Given the description of an element on the screen output the (x, y) to click on. 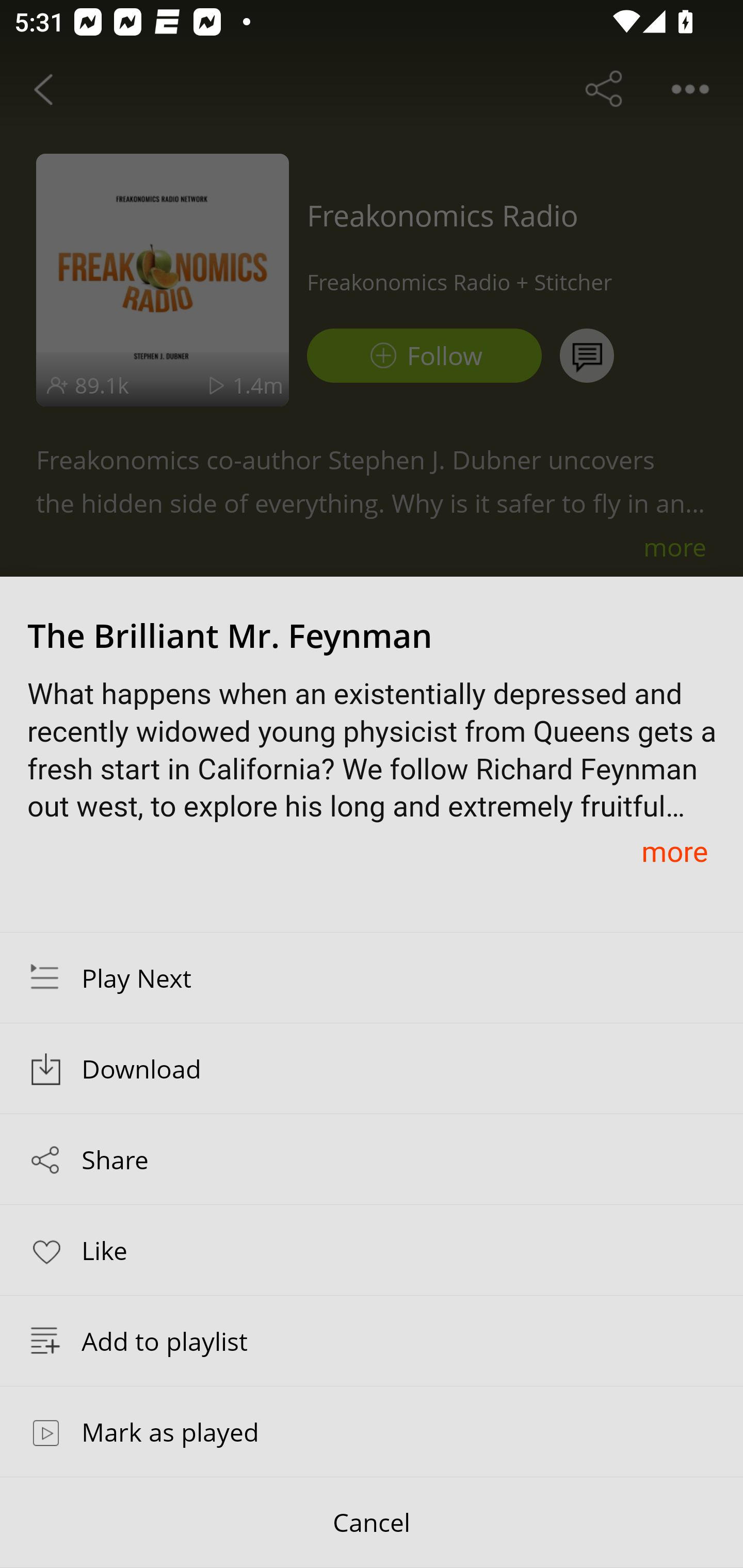
more (674, 851)
Play Next (371, 977)
Download (371, 1068)
Share (371, 1159)
Like (371, 1249)
Add to playlist (371, 1340)
Mark as played (371, 1431)
Cancel (371, 1522)
